Given the description of an element on the screen output the (x, y) to click on. 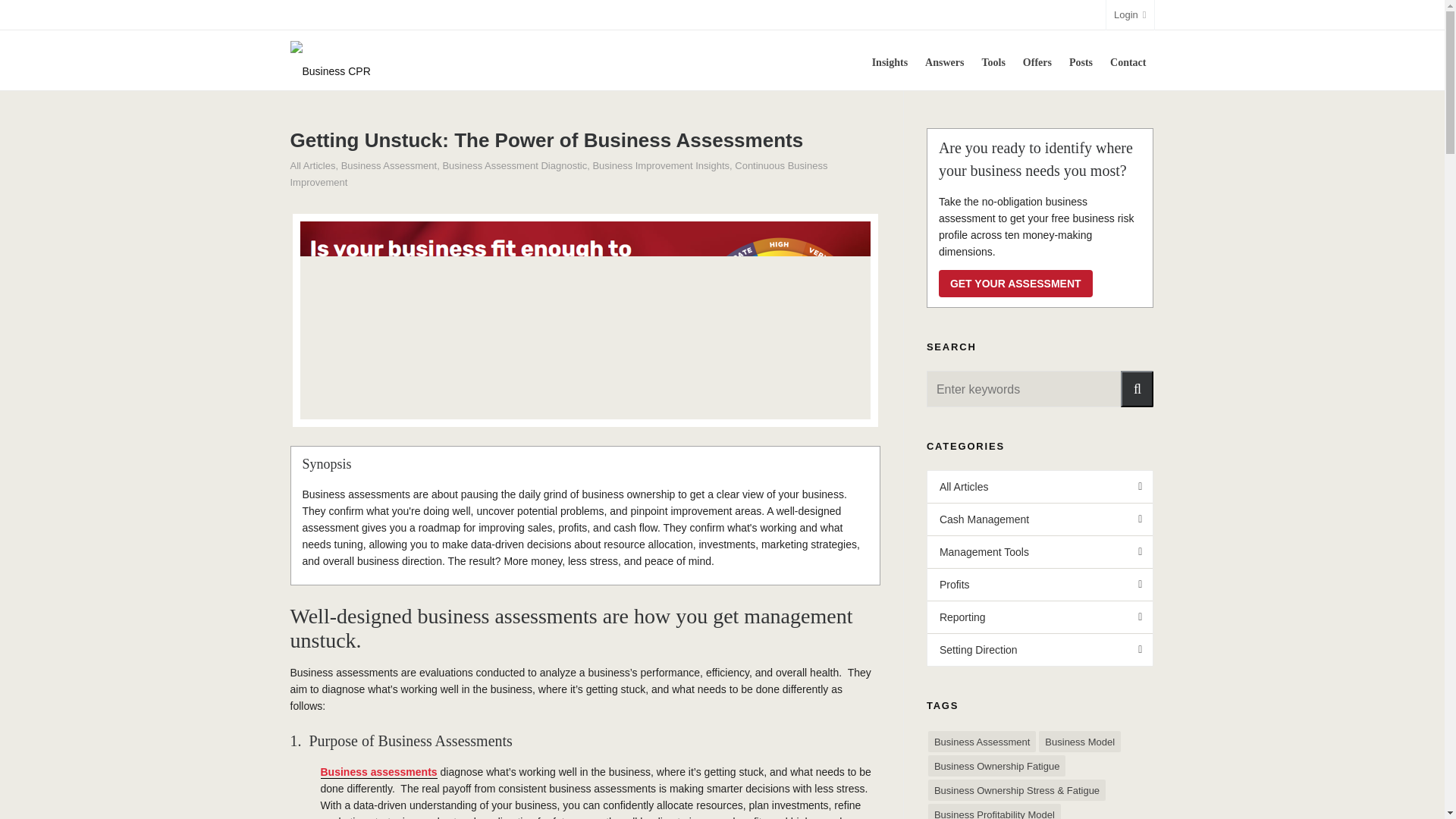
Business Improvement Insights (660, 165)
Business Assessment Diagnostic (514, 165)
Business assessments (378, 771)
Continuous Business Improvement (558, 173)
Business Assessment (388, 165)
Login (1130, 15)
Answers (944, 60)
All Articles (311, 165)
